Given the description of an element on the screen output the (x, y) to click on. 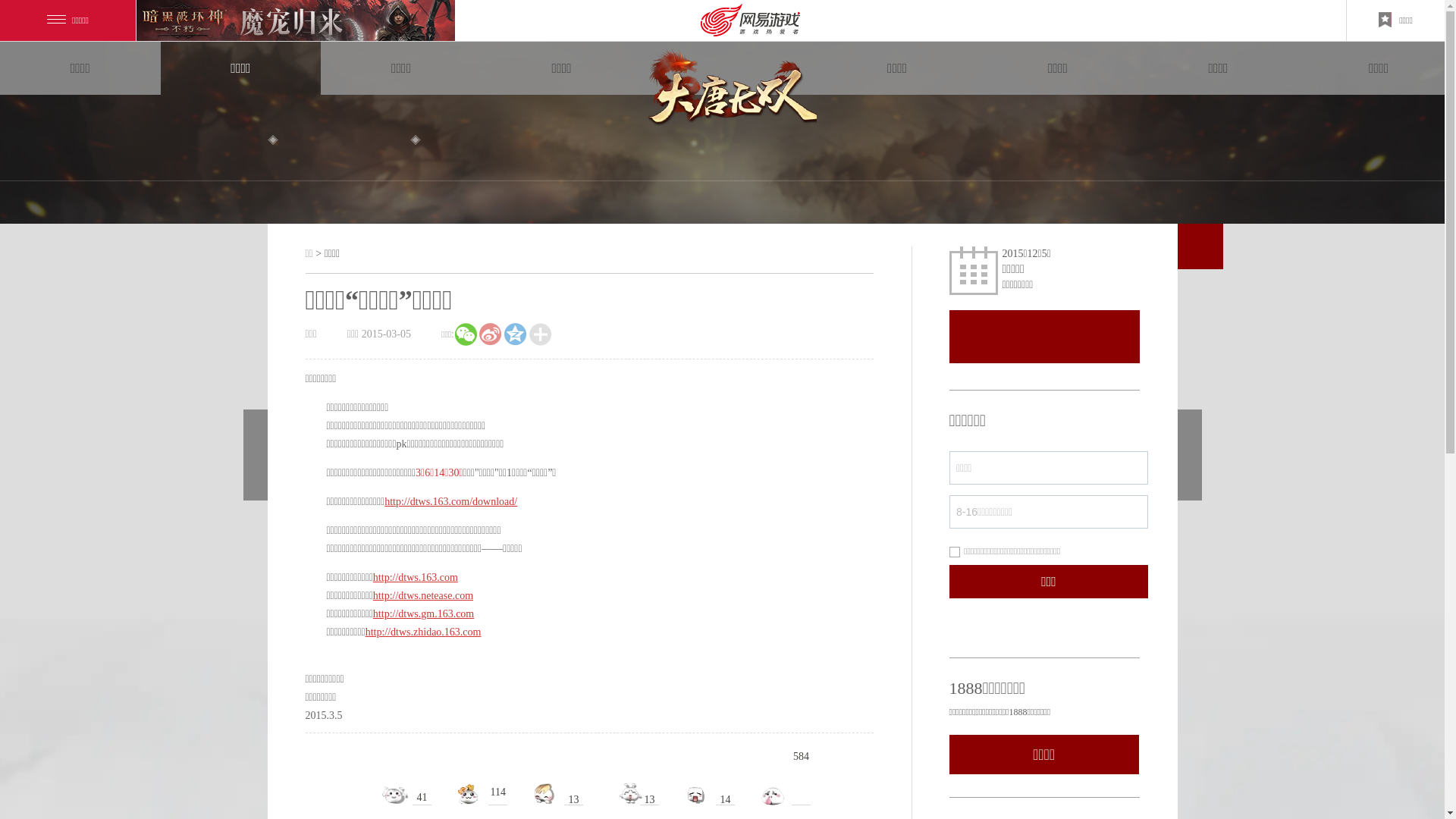
http://dtws.163.com Element type: text (415, 577)
http://dtws.zhidao.163.com Element type: text (423, 631)
http://dtws.gm.163.com Element type: text (423, 613)
http://dtws.netease.com Element type: text (423, 595)
http://dtws.163.com/download/ Element type: text (450, 501)
